Given the description of an element on the screen output the (x, y) to click on. 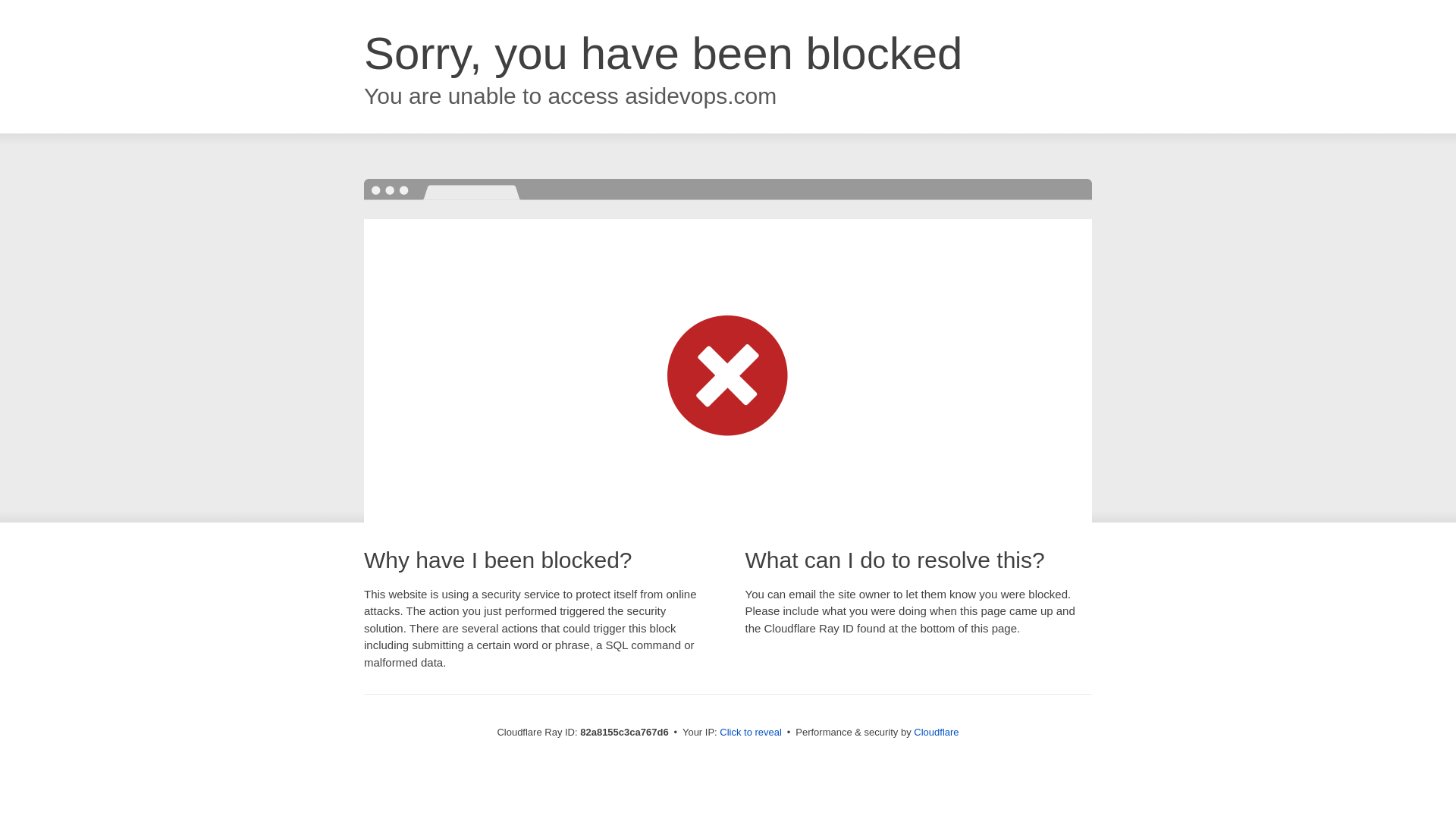
Cloudflare Element type: text (935, 731)
Click to reveal Element type: text (750, 732)
